Given the description of an element on the screen output the (x, y) to click on. 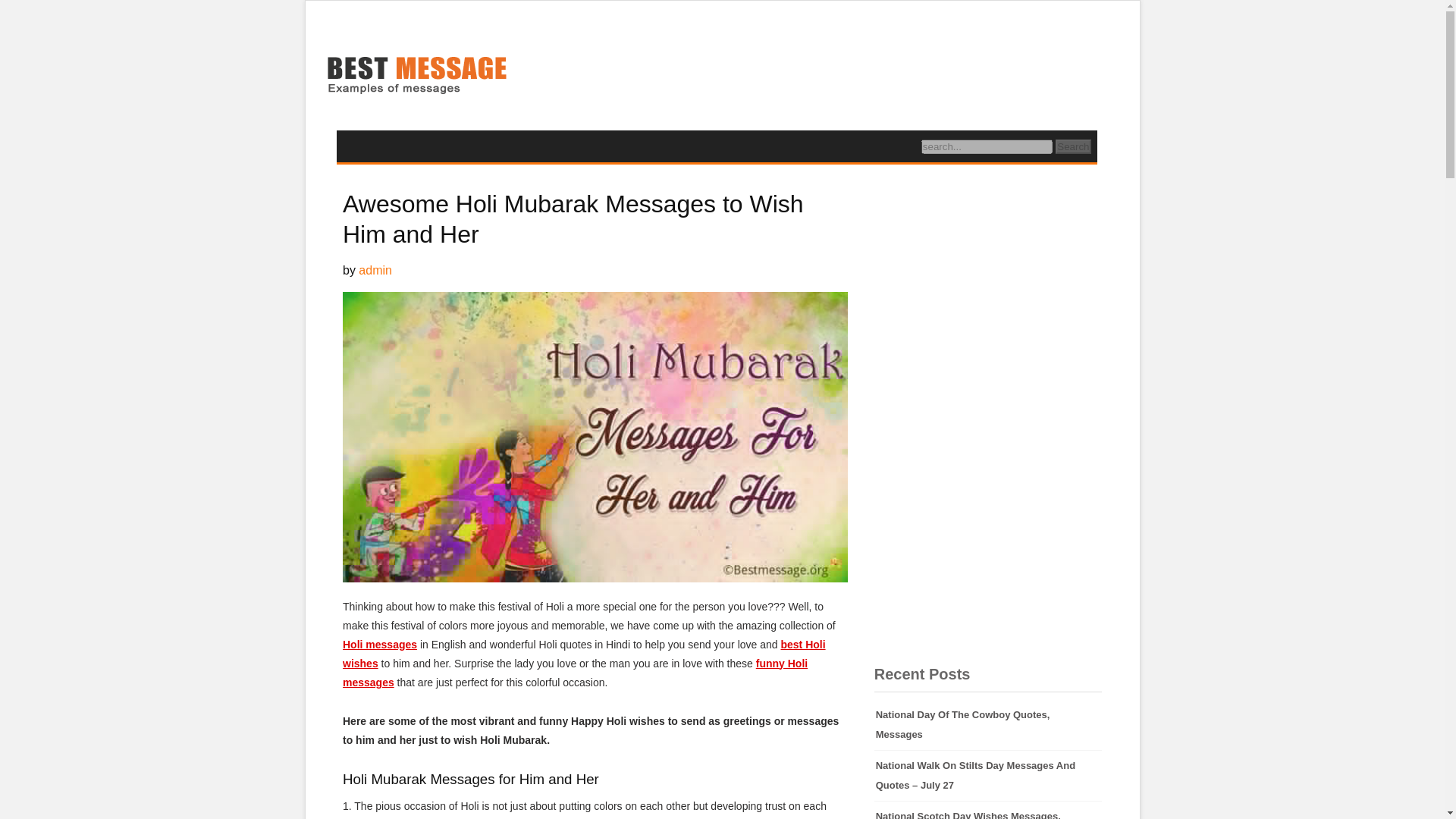
Holi messages (379, 644)
Best Message (415, 76)
Search (1072, 146)
National Day Of The Cowboy Quotes, Messages (988, 725)
funny Holi messages (575, 672)
Search (1072, 146)
National Scotch Day Wishes Messages, Quotes (988, 810)
admin (374, 269)
best Holi wishes (583, 653)
